Given the description of an element on the screen output the (x, y) to click on. 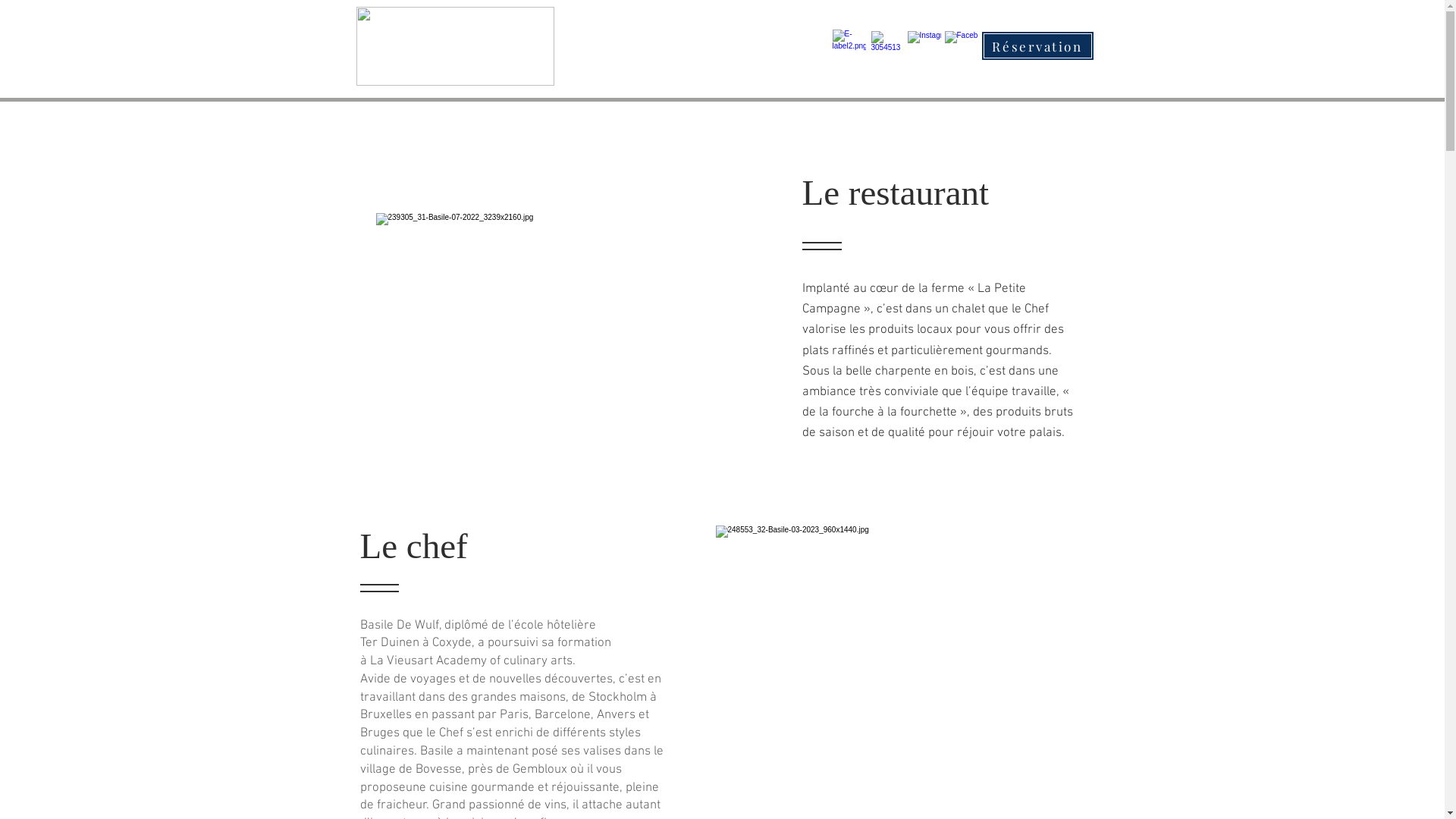
9c138c_71fc72f62da845549821a96096d53584~mv2.jpg Element type: hover (885, 45)
9c138c_15e0ebe59b7a4f65b59ad025ed4df9d5~mv2.jpg Element type: hover (545, 326)
Logo Basile.png Element type: hover (455, 45)
9c138c_cc1b1e564d754f30990971fbc8ce2fc2~mv2.png Element type: hover (849, 45)
